Given the description of an element on the screen output the (x, y) to click on. 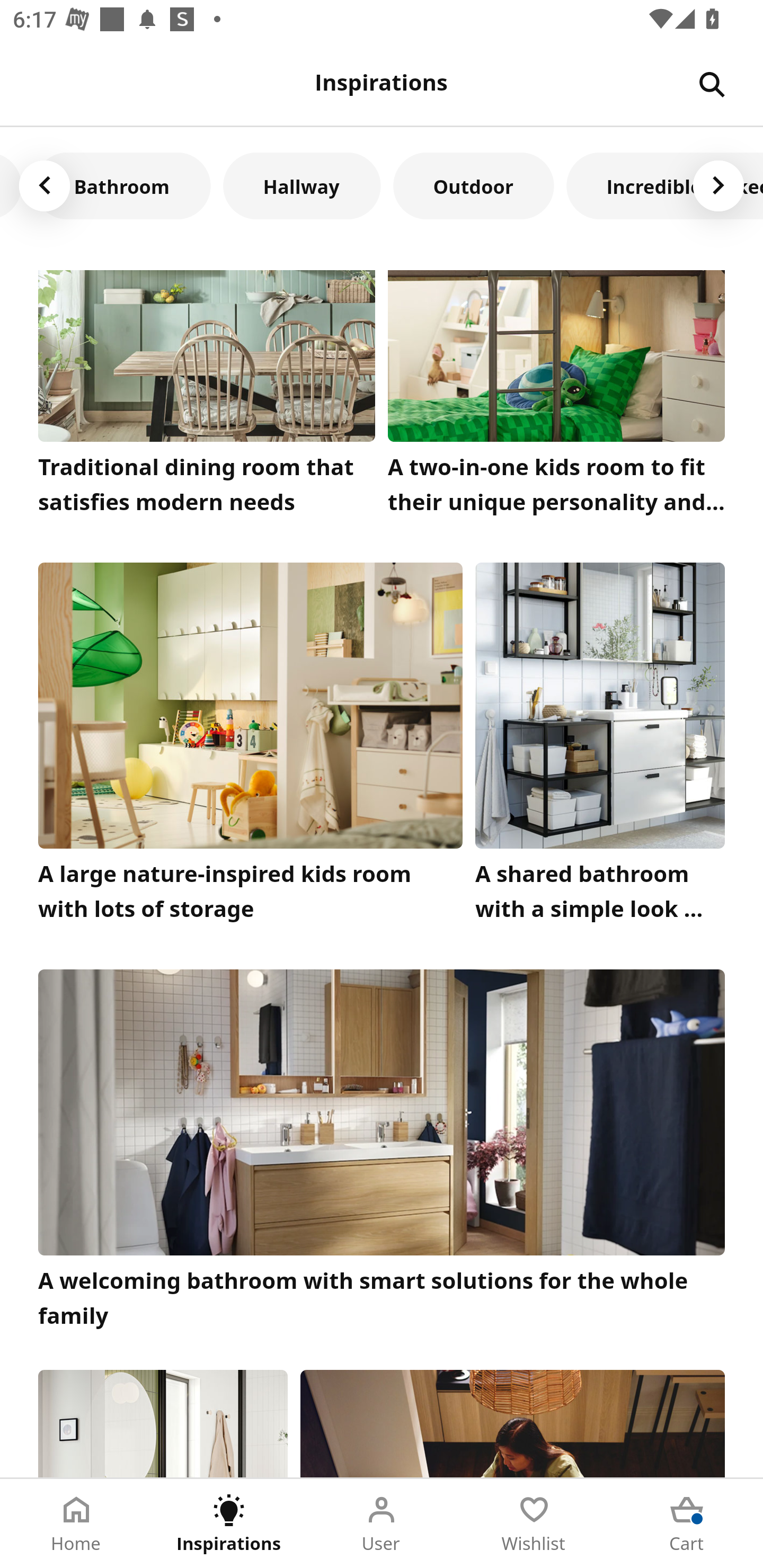
Bathroom (121, 185)
Hallway (301, 185)
Outdoor (472, 185)
Home
Tab 1 of 5 (76, 1522)
Inspirations
Tab 2 of 5 (228, 1522)
User
Tab 3 of 5 (381, 1522)
Wishlist
Tab 4 of 5 (533, 1522)
Cart
Tab 5 of 5 (686, 1522)
